Given the description of an element on the screen output the (x, y) to click on. 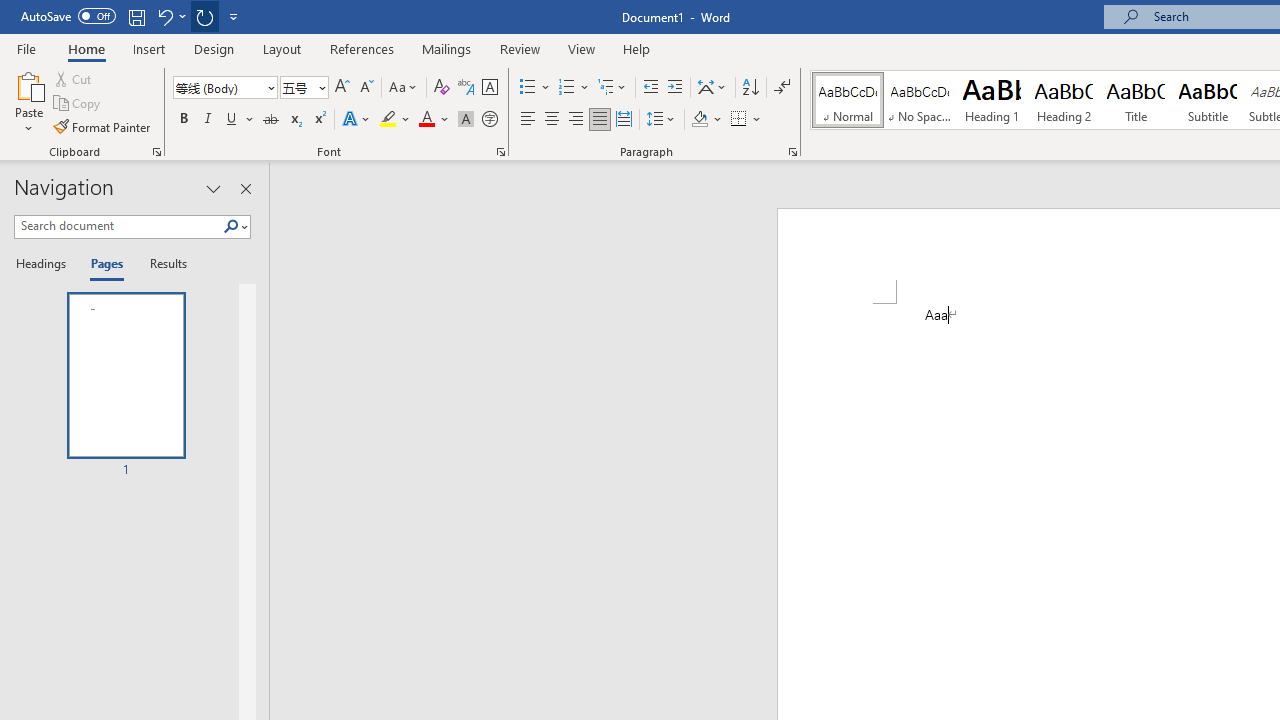
Repeat Style (204, 15)
